Given the description of an element on the screen output the (x, y) to click on. 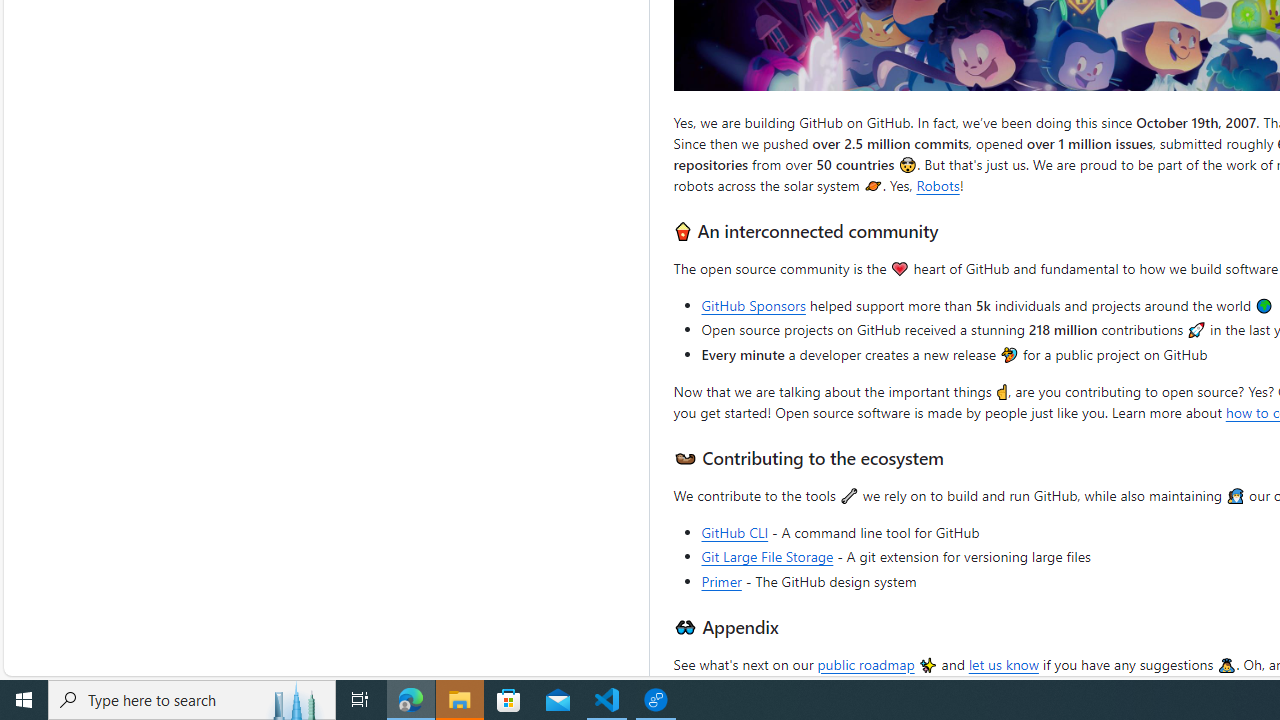
Primer (721, 580)
Git Large File Storage (767, 557)
Robots (938, 184)
GitHub CLI (735, 532)
GitHub Sponsors (753, 305)
let us know (1003, 663)
public roadmap (865, 663)
join our team (906, 684)
